Given the description of an element on the screen output the (x, y) to click on. 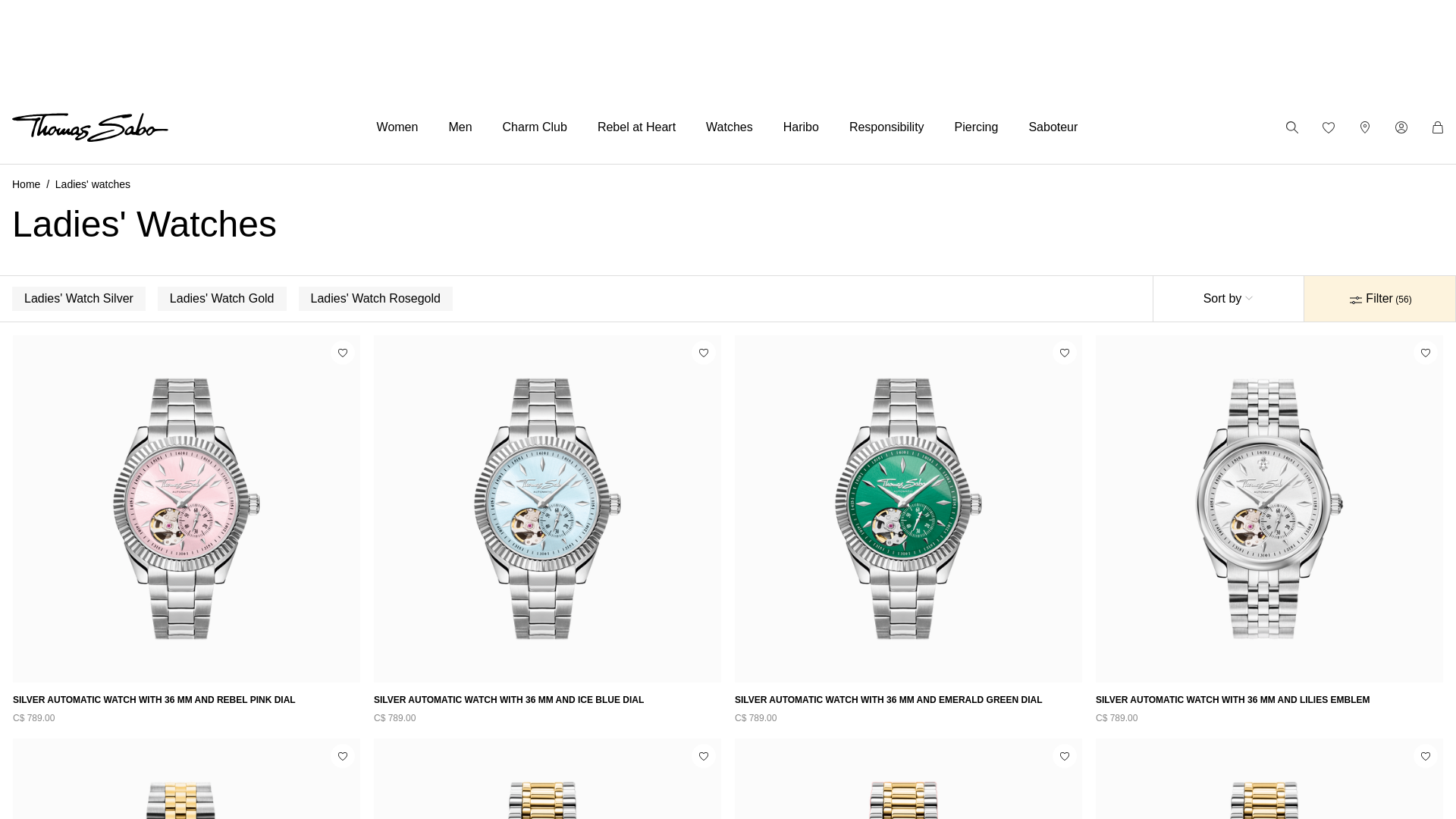
MY ACCOUNT (1401, 127)
wishlist (703, 755)
wishlist (342, 755)
wishlist (1064, 755)
wishlist (1064, 352)
wishlist (1425, 352)
wishlist (1328, 127)
wishlist (342, 352)
wishlist (703, 352)
